Given the description of an element on the screen output the (x, y) to click on. 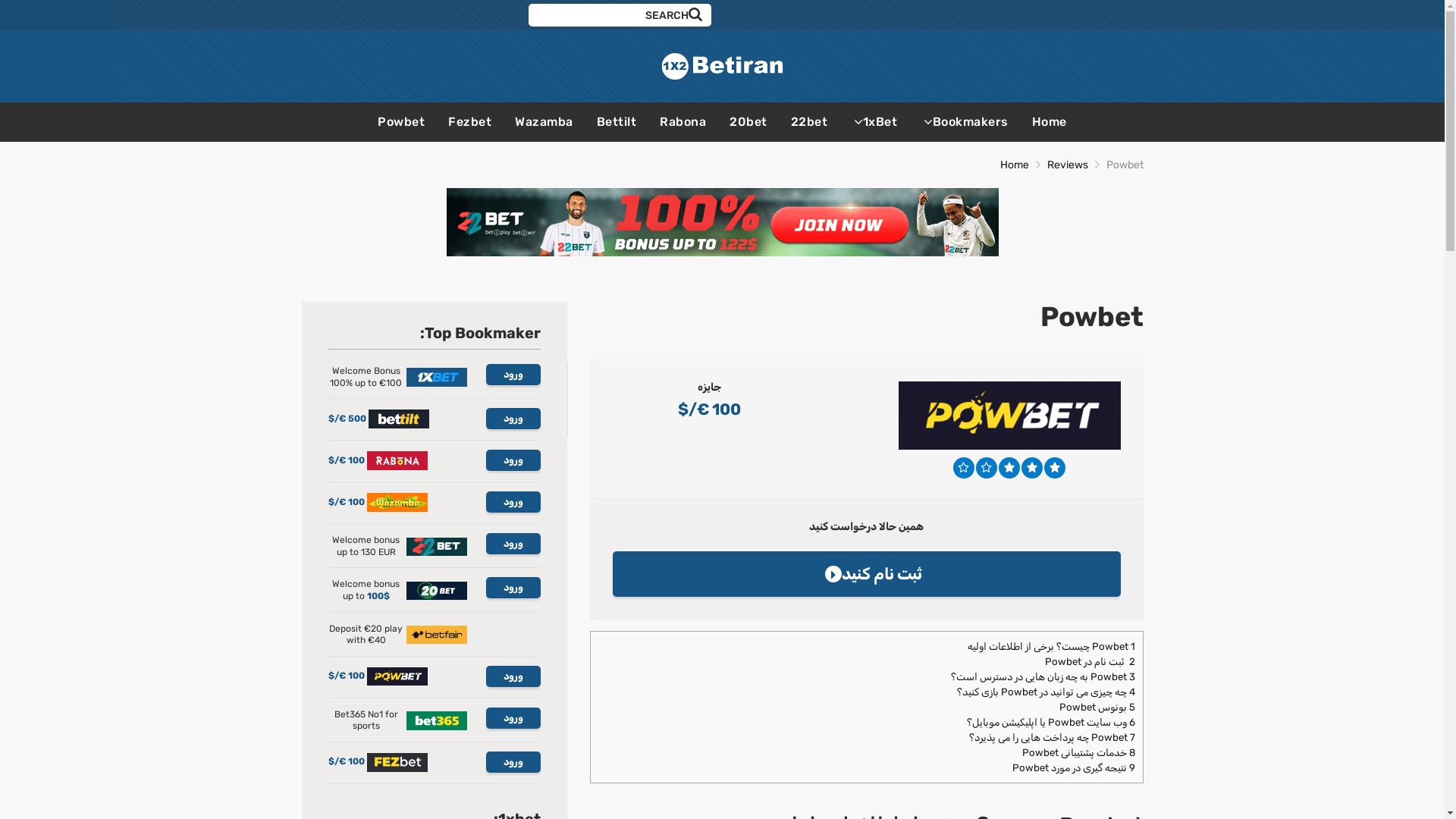
Rabona Element type: text (682, 121)
Wazamba Element type: text (543, 121)
Bettilt Element type: text (616, 121)
Home Element type: text (1013, 164)
Powbet Element type: text (400, 121)
Reviews Element type: text (1066, 164)
22bet Element type: text (809, 121)
1xBet Element type: text (873, 121)
20bet Element type: text (748, 121)
Home Element type: text (1049, 121)
Fezbet Element type: text (469, 121)
Bookmakers Element type: text (964, 121)
